Given the description of an element on the screen output the (x, y) to click on. 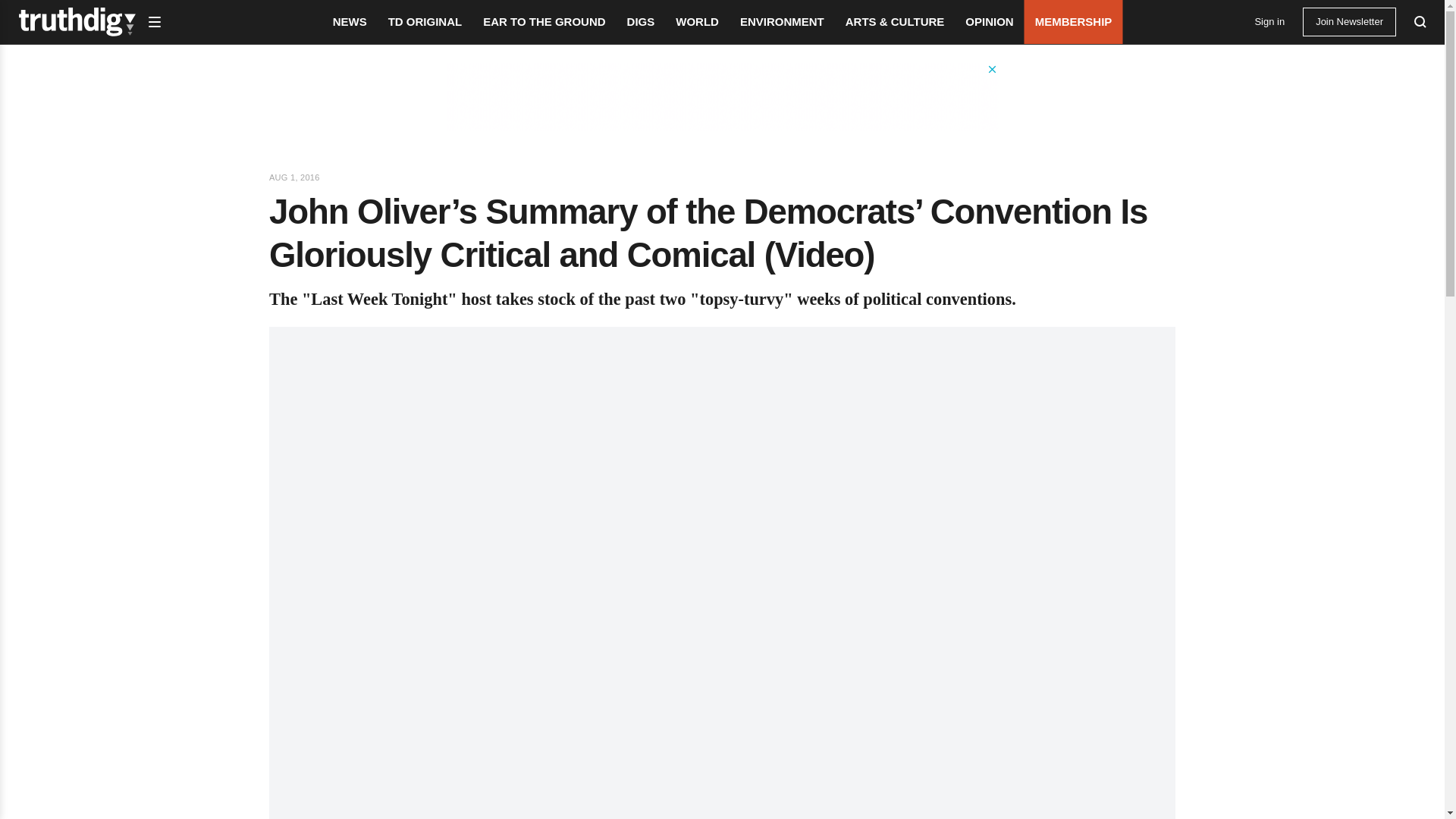
3rd party ad content (721, 97)
